Given the description of an element on the screen output the (x, y) to click on. 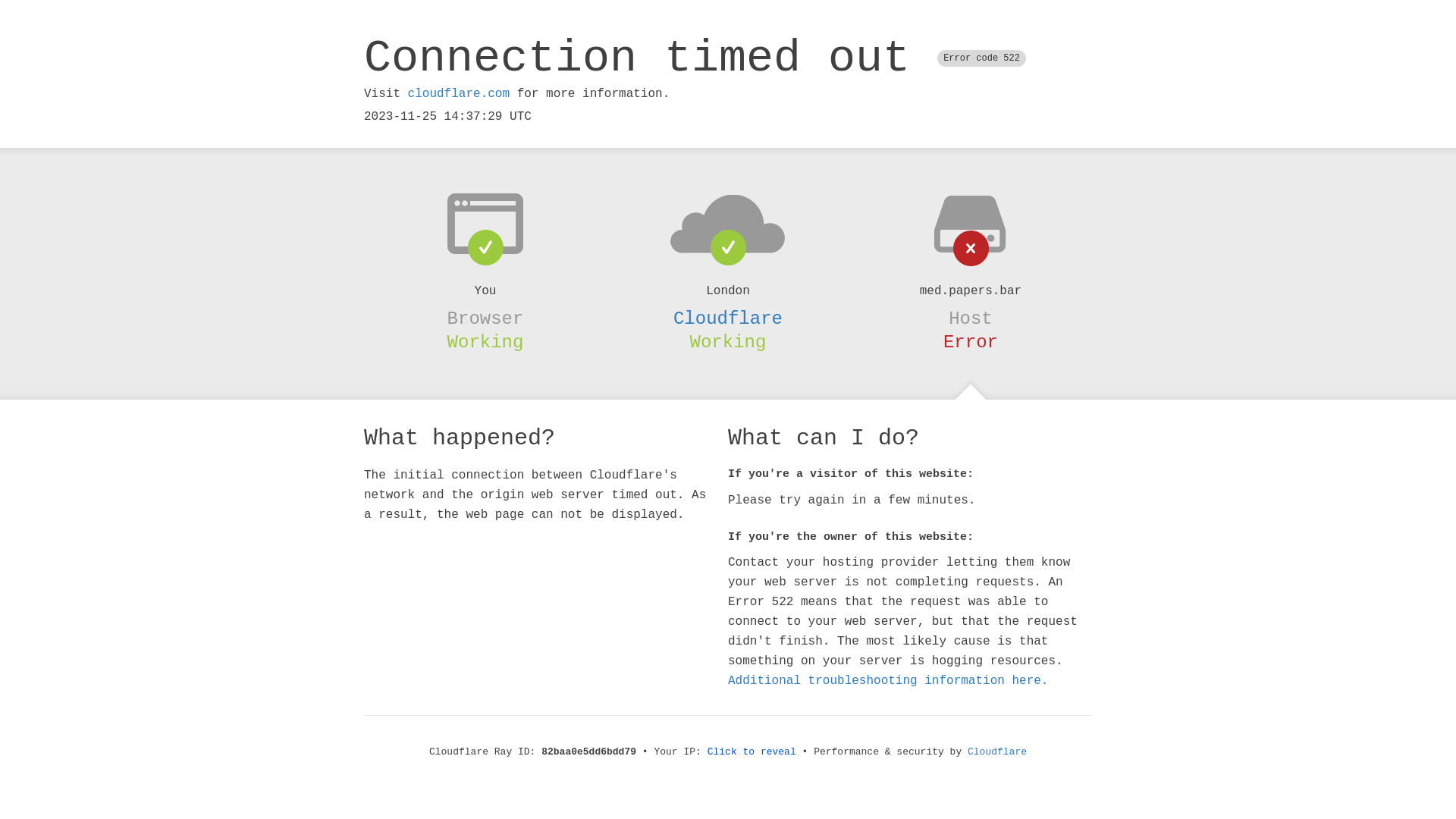
Cloudflare Element type: text (727, 318)
Additional troubleshooting information here. Element type: text (888, 680)
Cloudflare Element type: text (996, 751)
cloudflare.com Element type: text (458, 93)
Click to reveal Element type: text (751, 751)
